Given the description of an element on the screen output the (x, y) to click on. 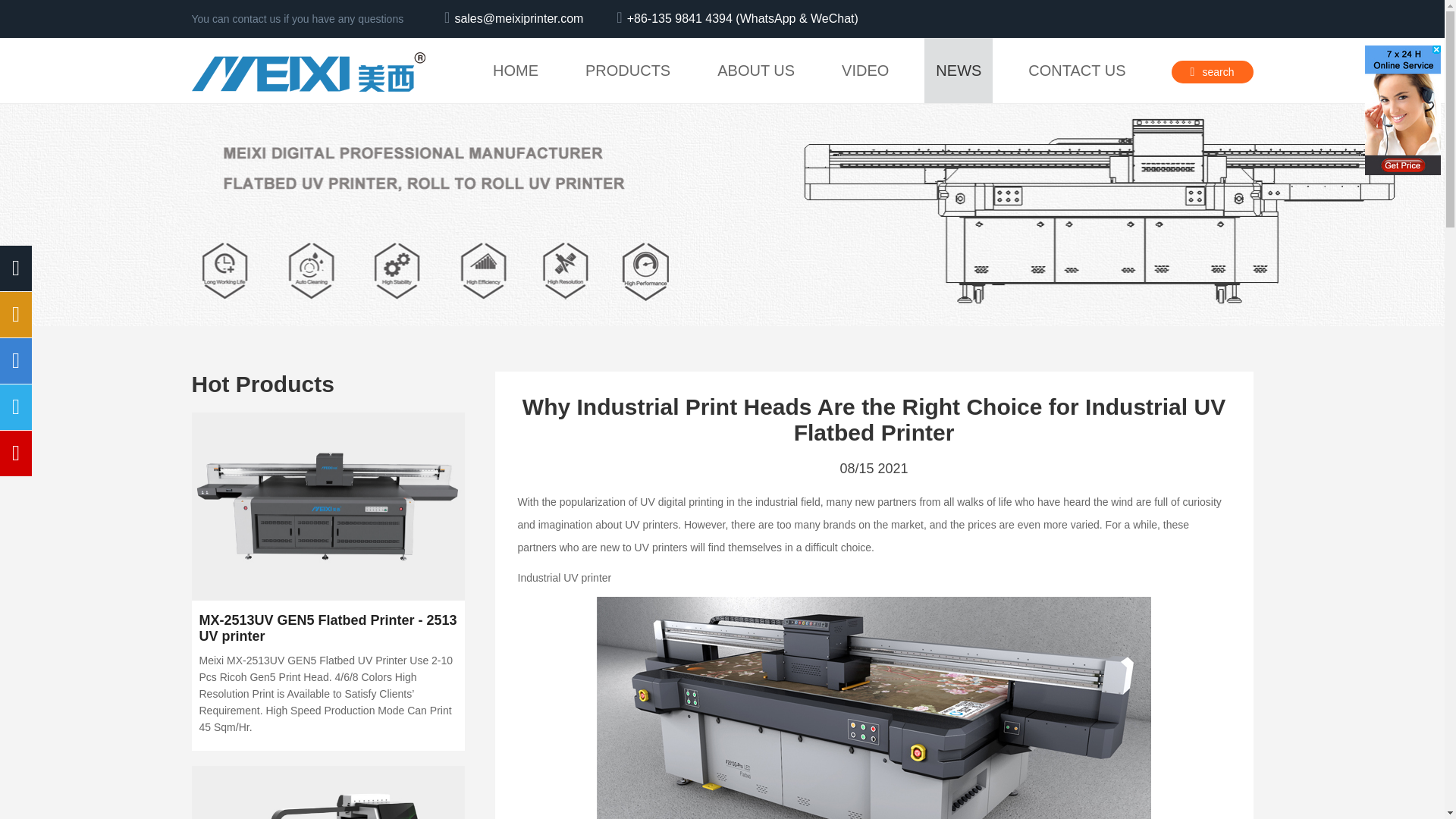
VIDEO (864, 70)
HOME (515, 70)
NEWS (958, 70)
search (1211, 71)
CONTACT US (1076, 70)
PRODUCTS (627, 70)
ABOUT US (756, 70)
